Given the description of an element on the screen output the (x, y) to click on. 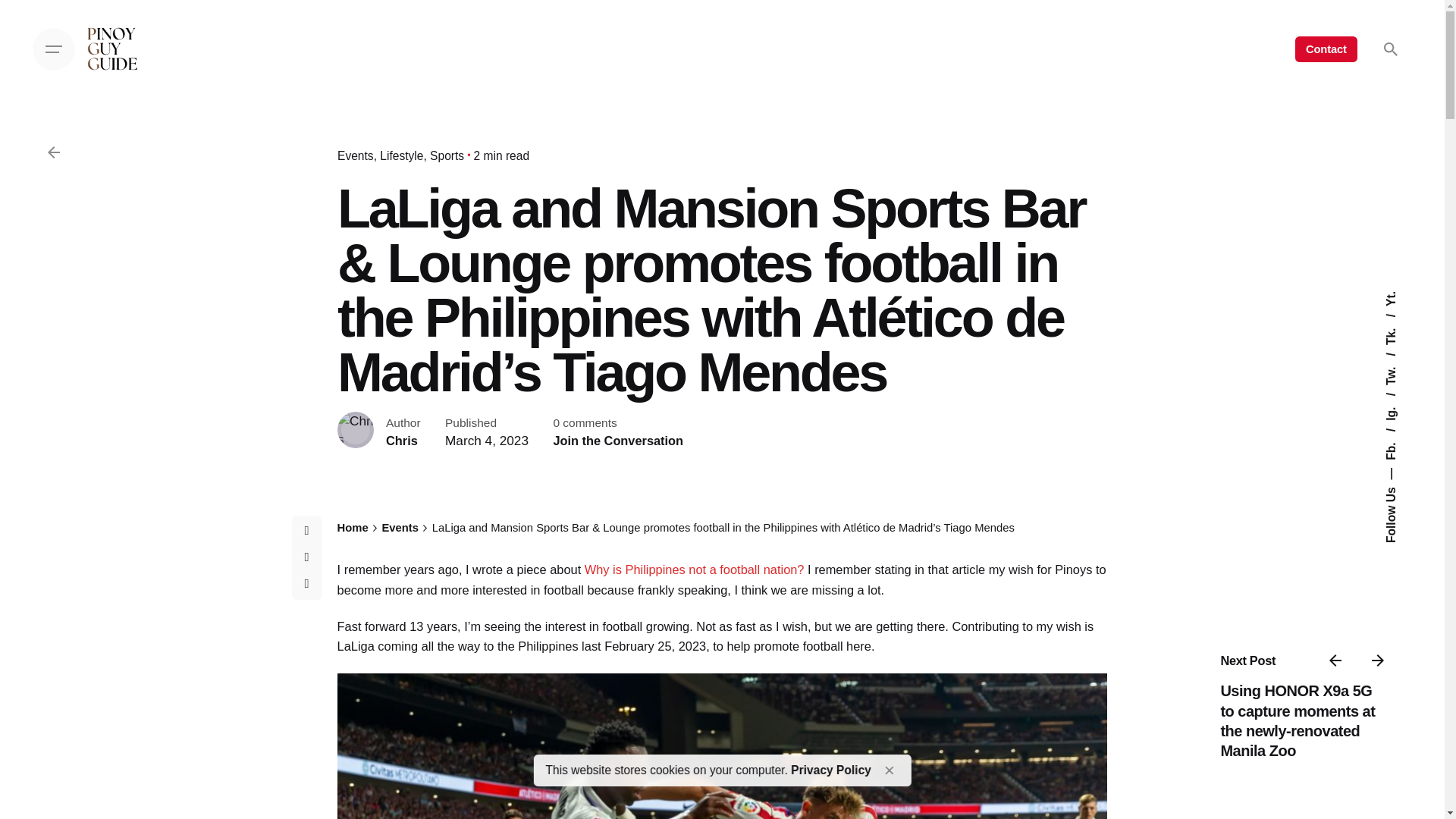
Tw. (1400, 358)
Contact (1325, 49)
Yt. (1391, 297)
Tk. (1399, 319)
Ig. (1398, 399)
Fb. (1399, 434)
